Given the description of an element on the screen output the (x, y) to click on. 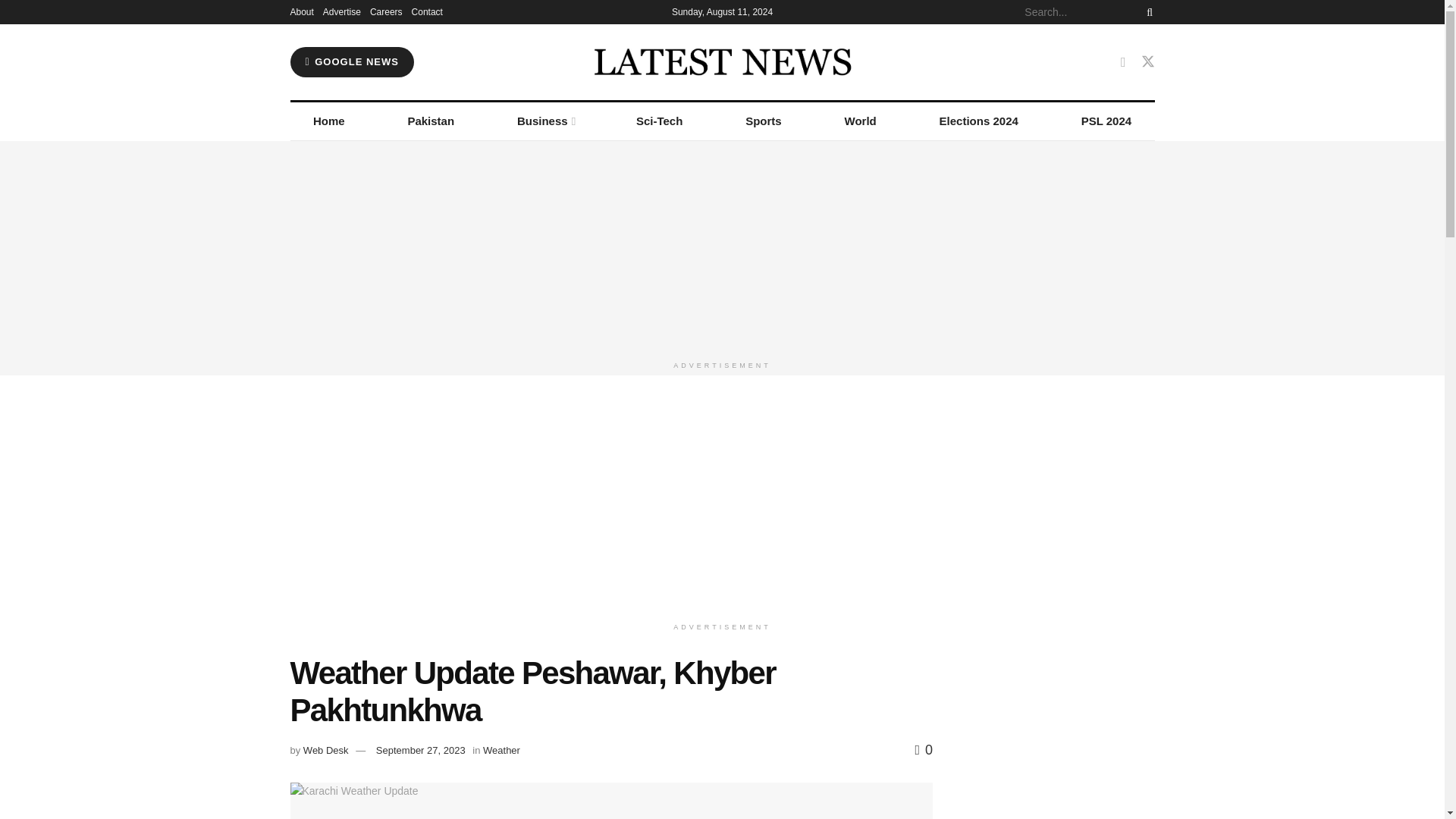
Web Desk (325, 749)
Weather (501, 749)
0 (923, 749)
Contact (427, 12)
World (860, 121)
Advertisement (721, 492)
About (301, 12)
Home (328, 121)
Business (545, 121)
